Given the description of an element on the screen output the (x, y) to click on. 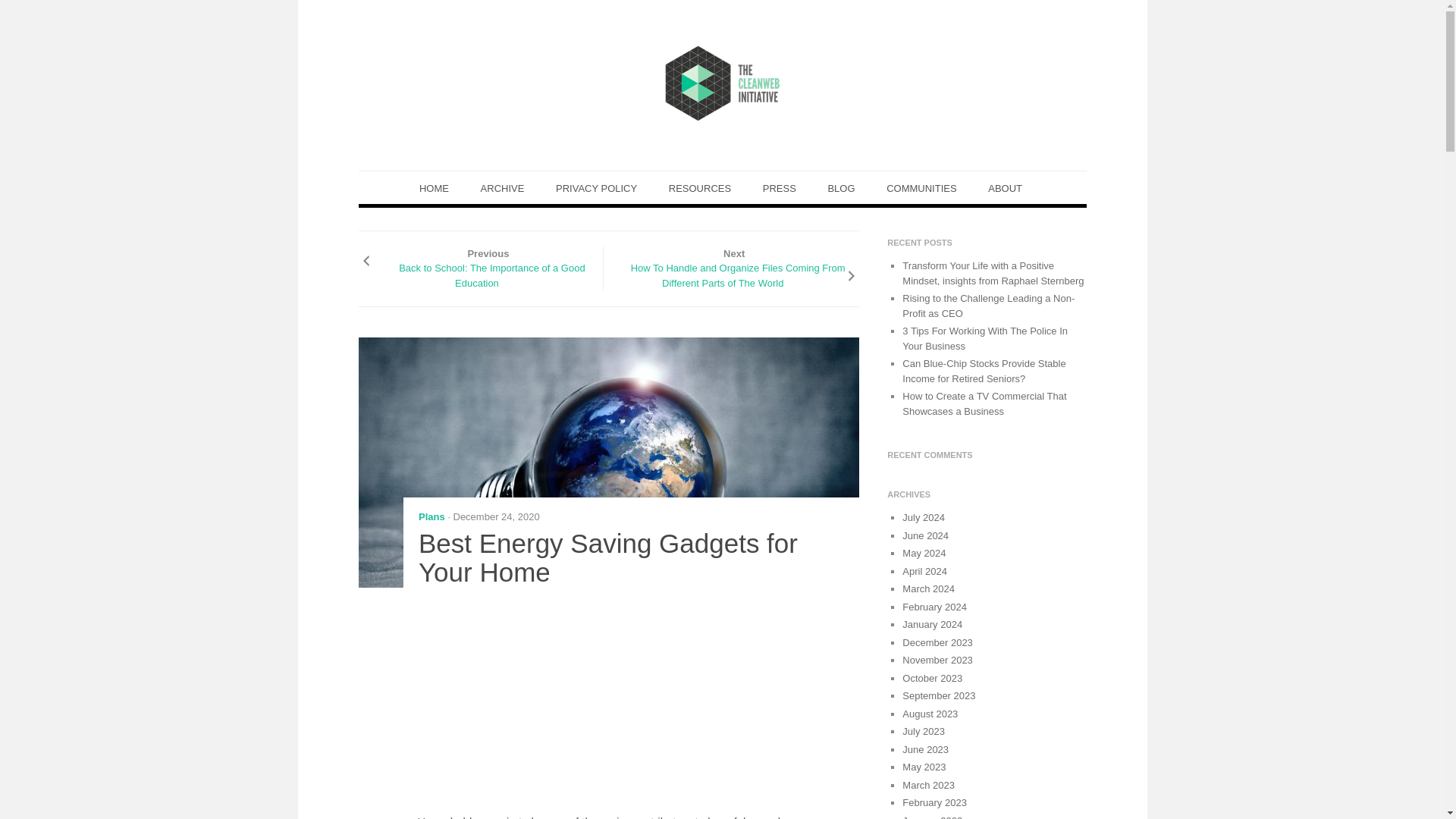
Back to School: The Importance of a Good Education (488, 275)
February 2024 (934, 606)
ABOUT (1005, 188)
PRIVACY POLICY (596, 188)
Plans (432, 516)
BLOG (840, 188)
September 2023 (938, 695)
Advertisement (638, 704)
October 2023 (932, 677)
December 2023 (937, 642)
RESOURCES (699, 188)
HOME (433, 188)
3 Tips For Working With The Police In Your Business (984, 338)
